Given the description of an element on the screen output the (x, y) to click on. 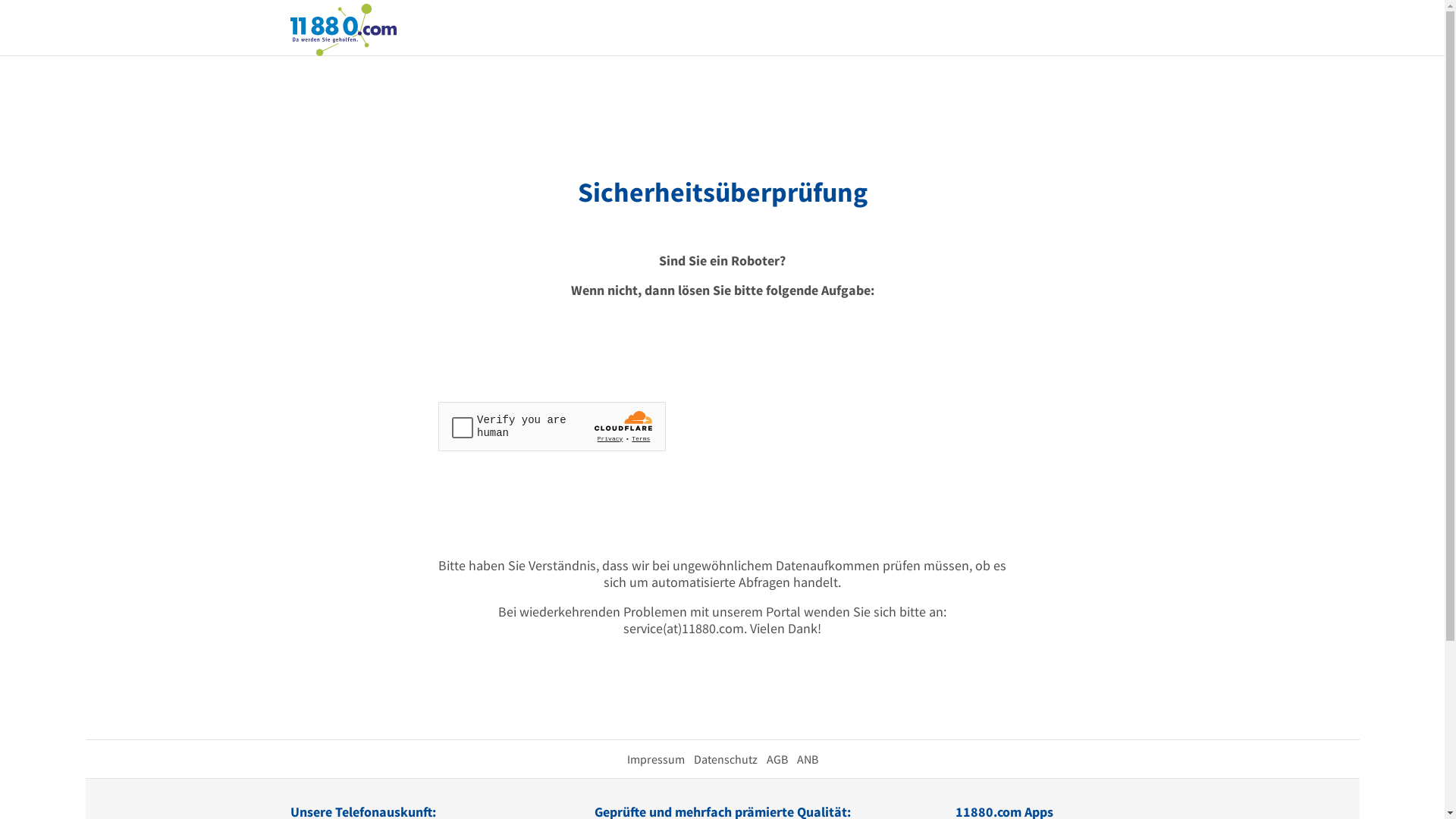
11880.com Element type: hover (342, 28)
Widget containing a Cloudflare security challenge Element type: hover (551, 426)
Datenschutz Element type: text (724, 758)
AGB Element type: text (776, 758)
Impressum Element type: text (655, 758)
ANB Element type: text (806, 758)
